Given the description of an element on the screen output the (x, y) to click on. 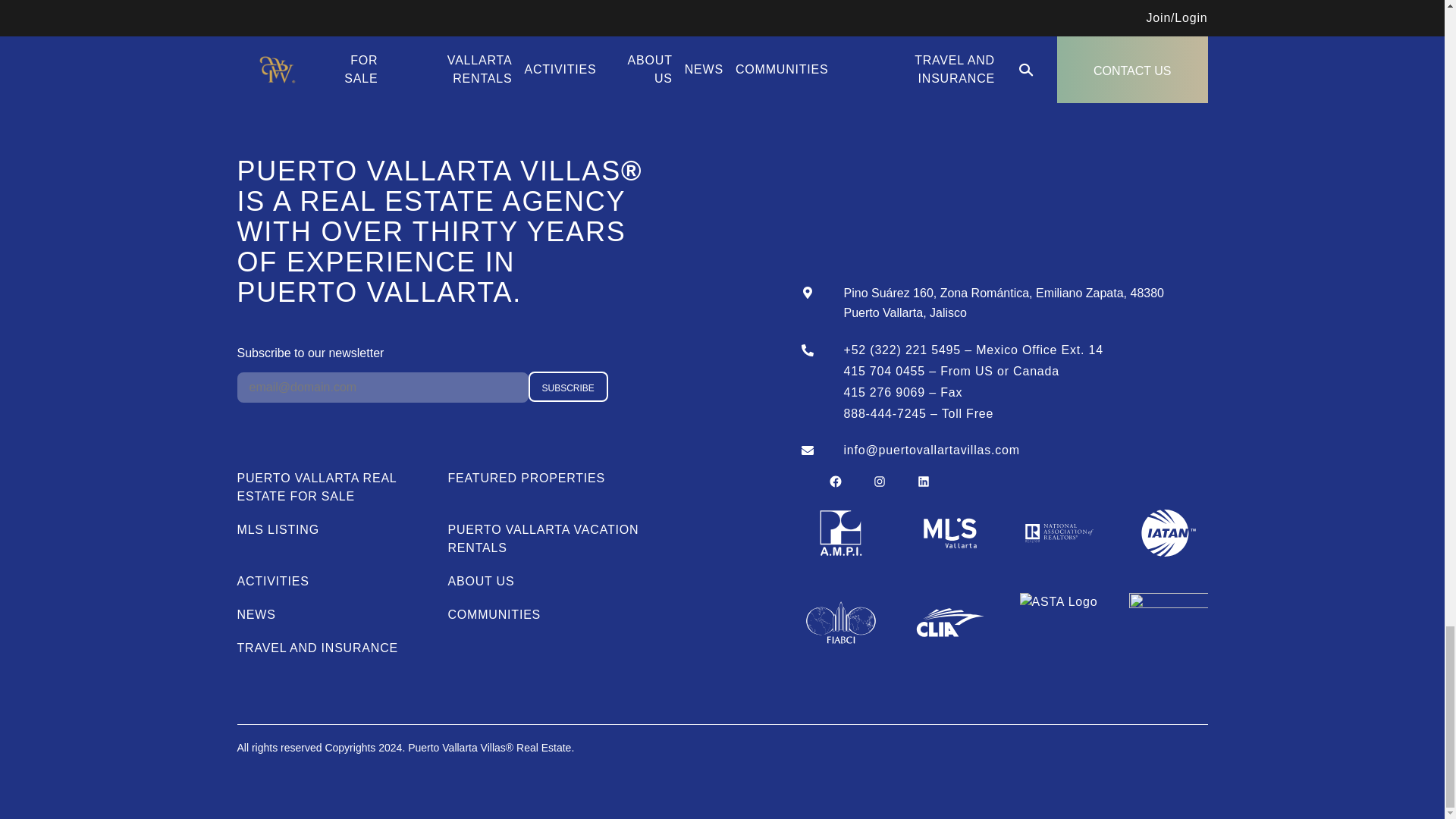
Subscribe (567, 386)
MLS LISTING (276, 529)
Subscribe (567, 386)
PUERTO VALLARTA REAL ESTATE FOR SALE (315, 486)
ABOUT US (479, 581)
ACTIVITIES (271, 581)
FEATURED PROPERTIES (525, 477)
NEWS (255, 614)
PUERTO VALLARTA VACATION RENTALS (542, 538)
